Given the description of an element on the screen output the (x, y) to click on. 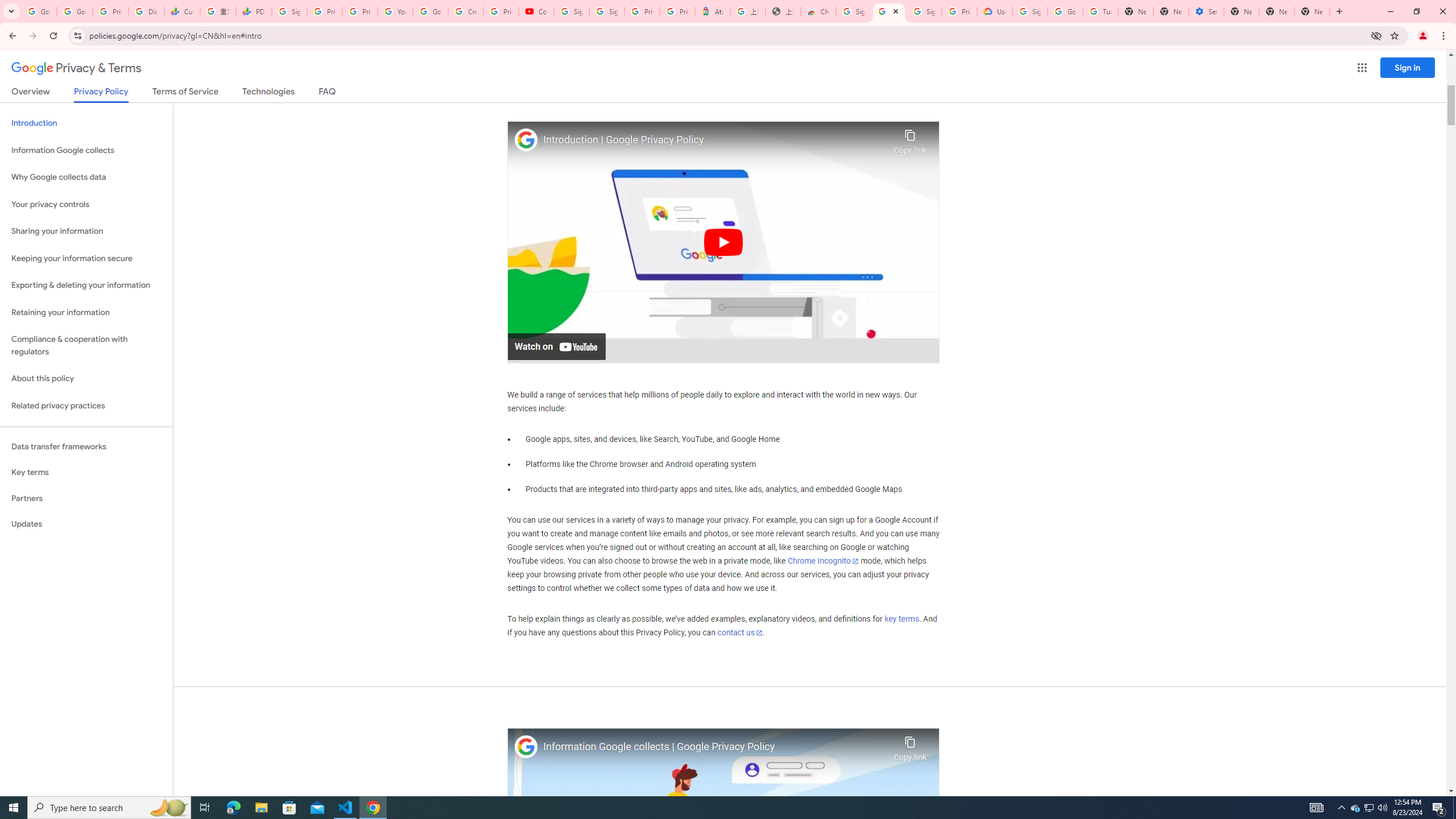
Sign in - Google Accounts (923, 11)
Sign in - Google Accounts (288, 11)
Exporting & deleting your information (86, 284)
Chrome Incognito (823, 561)
Google Workspace Admin Community (39, 11)
Atour Hotel - Google hotels (712, 11)
Retaining your information (86, 312)
Information Google collects | Google Privacy Policy (715, 747)
Sign in - Google Accounts (853, 11)
